Given the description of an element on the screen output the (x, y) to click on. 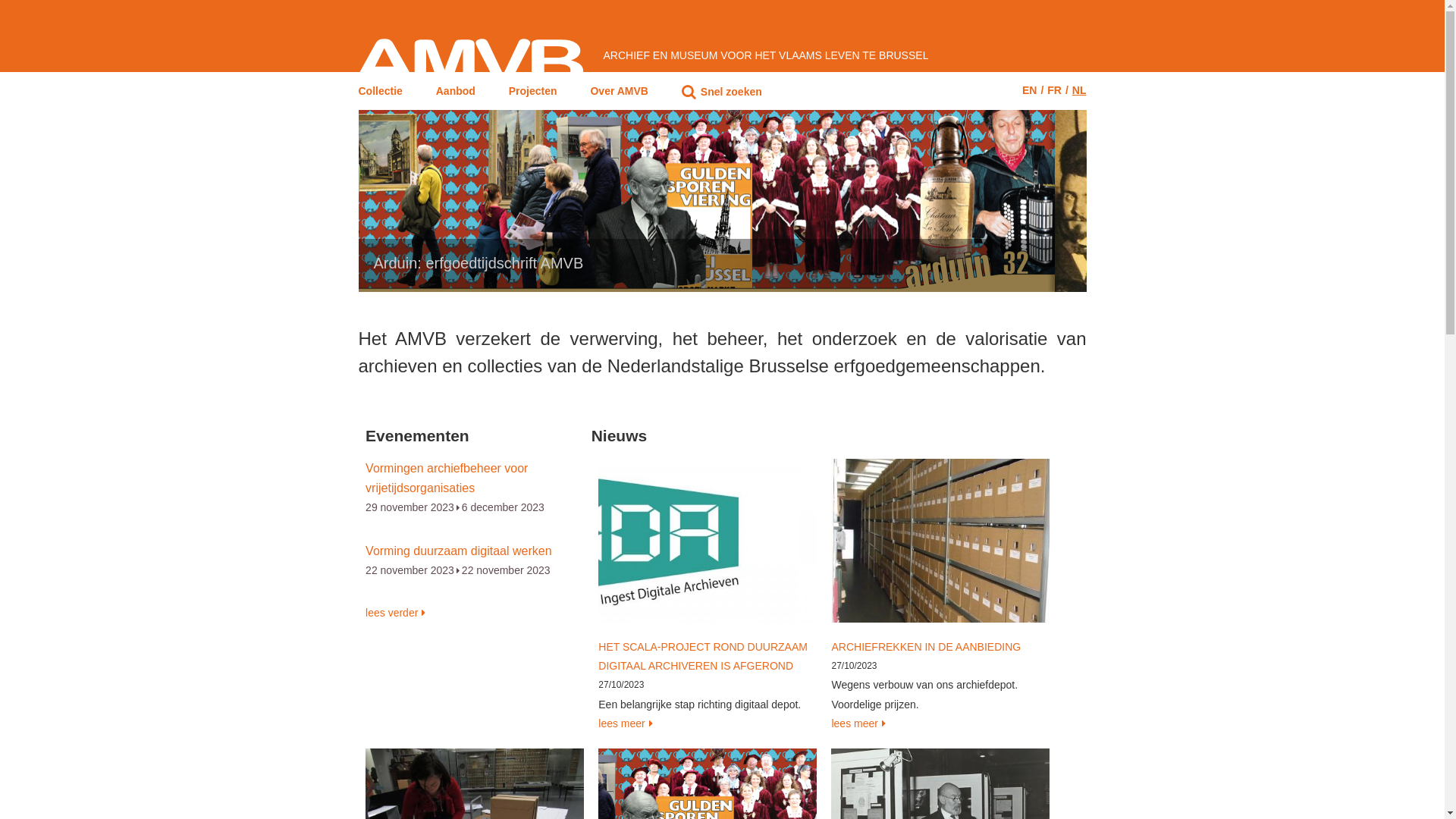
lees verder Element type: text (395, 612)
EN Element type: text (1029, 90)
Vormingen archiefbeheer voor vrijetijdsorganisaties Element type: text (446, 477)
Over AMVB Element type: text (618, 93)
Vorming duurzaam digitaal werken Element type: text (458, 550)
Overslaan en naar de inhoud gaan Element type: text (0, 0)
Projecten Element type: text (532, 93)
ARCHIEFREKKEN IN DE AANBIEDING Element type: text (925, 646)
FR Element type: text (1054, 90)
lees meer Element type: text (707, 723)
Zoeken Element type: text (393, 254)
https://www.amvb.be/nl/arduin-0 Element type: text (721, 200)
Collectie Element type: text (379, 93)
NL Element type: text (1079, 90)
Aanbod Element type: text (455, 93)
lees meer Element type: text (940, 723)
